Given the description of an element on the screen output the (x, y) to click on. 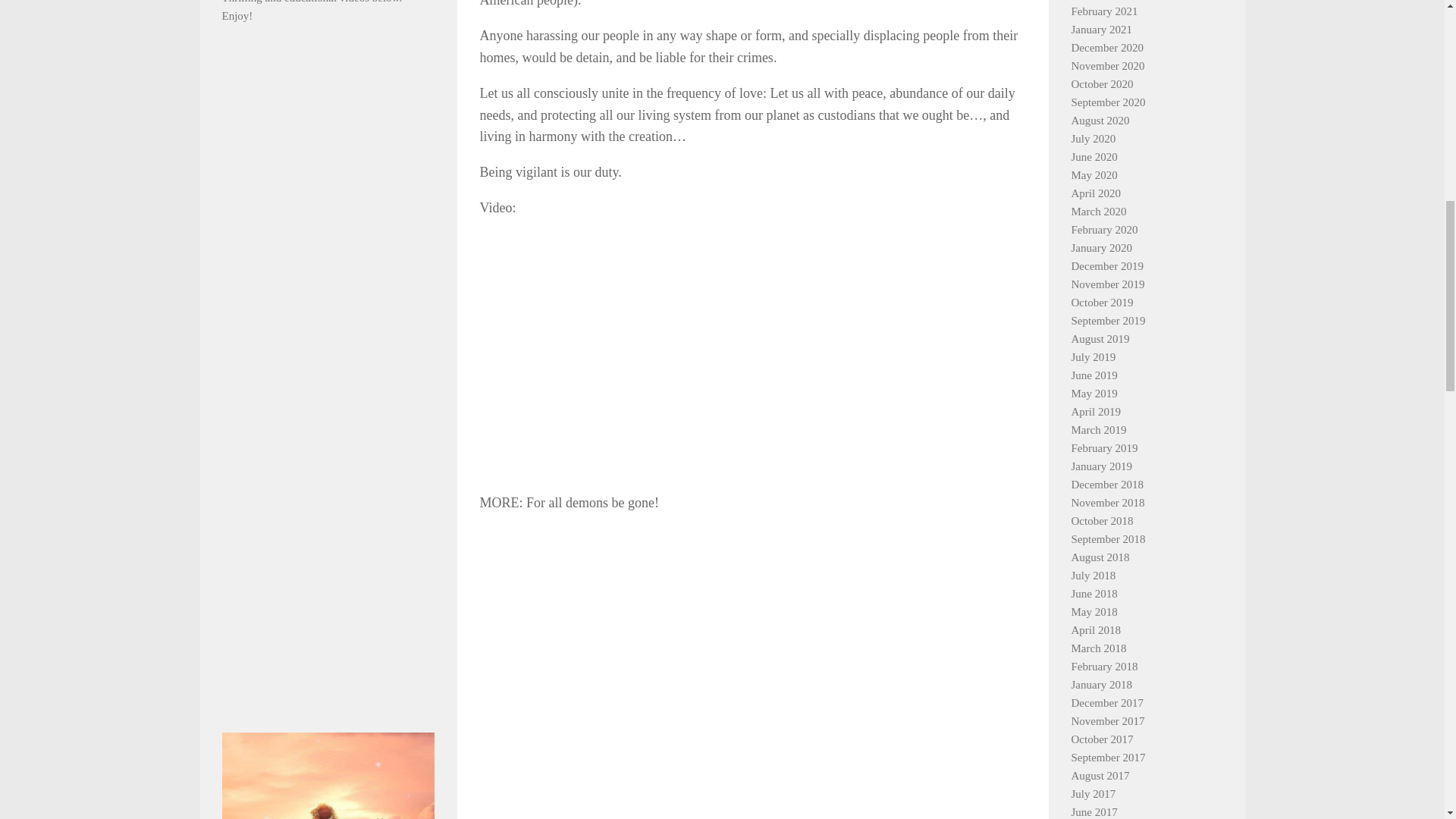
Big Pharma exec turned Whistleblower (327, 614)
